Given the description of an element on the screen output the (x, y) to click on. 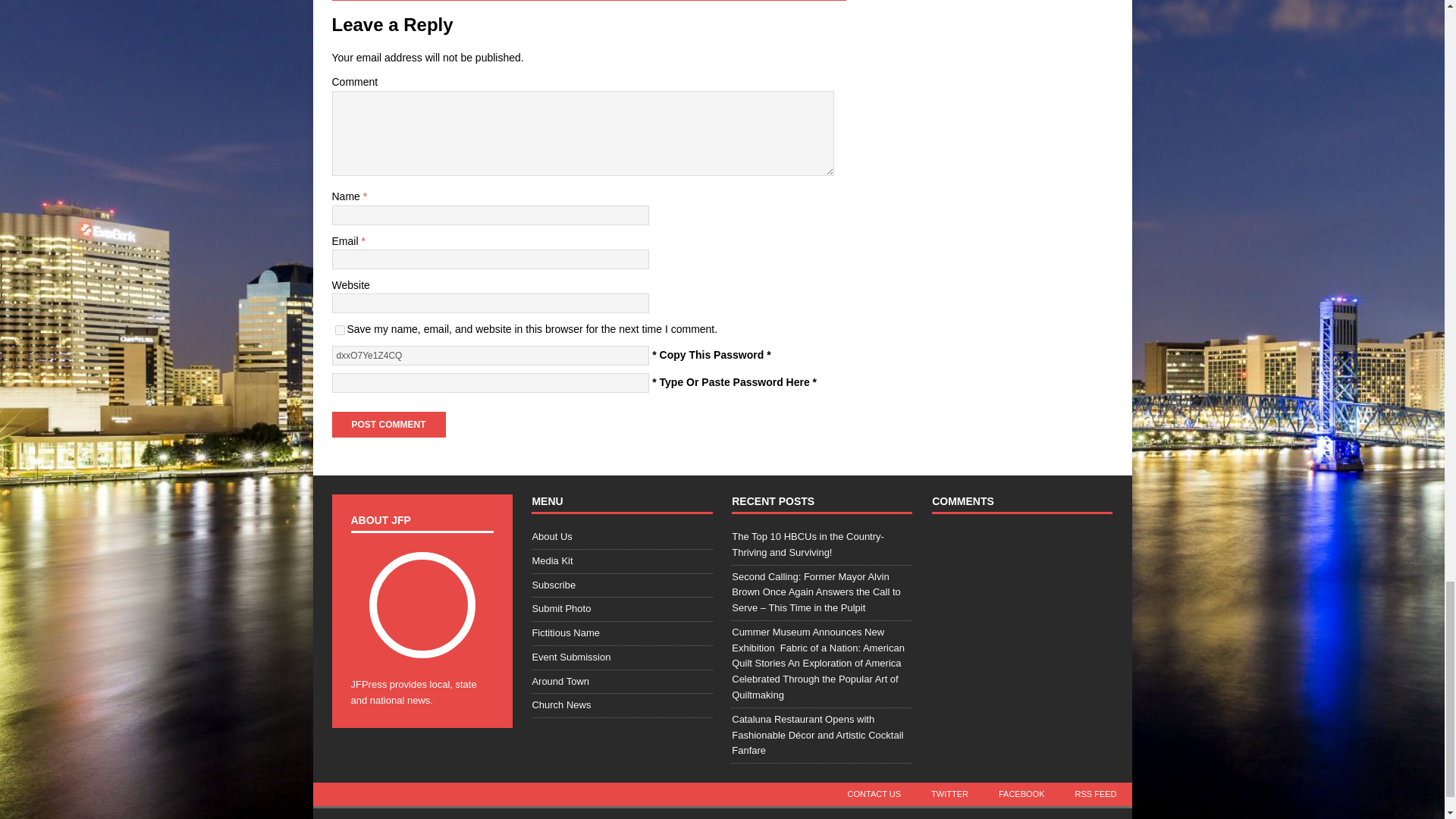
yes (339, 329)
Post Comment (388, 424)
dxxO7Ye1Z4CQ (490, 355)
